Given the description of an element on the screen output the (x, y) to click on. 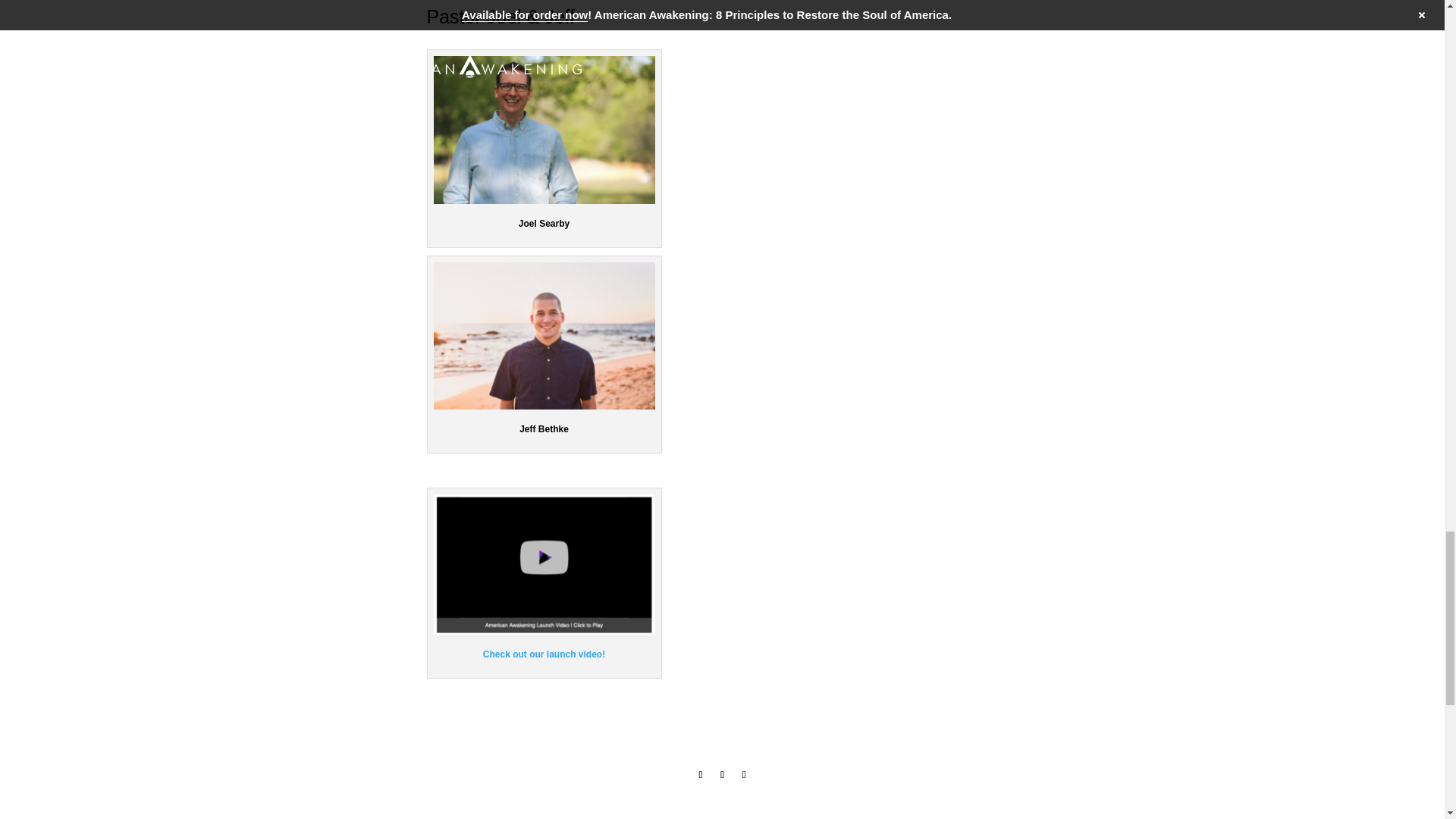
Check out our launch video! (544, 654)
